Given the description of an element on the screen output the (x, y) to click on. 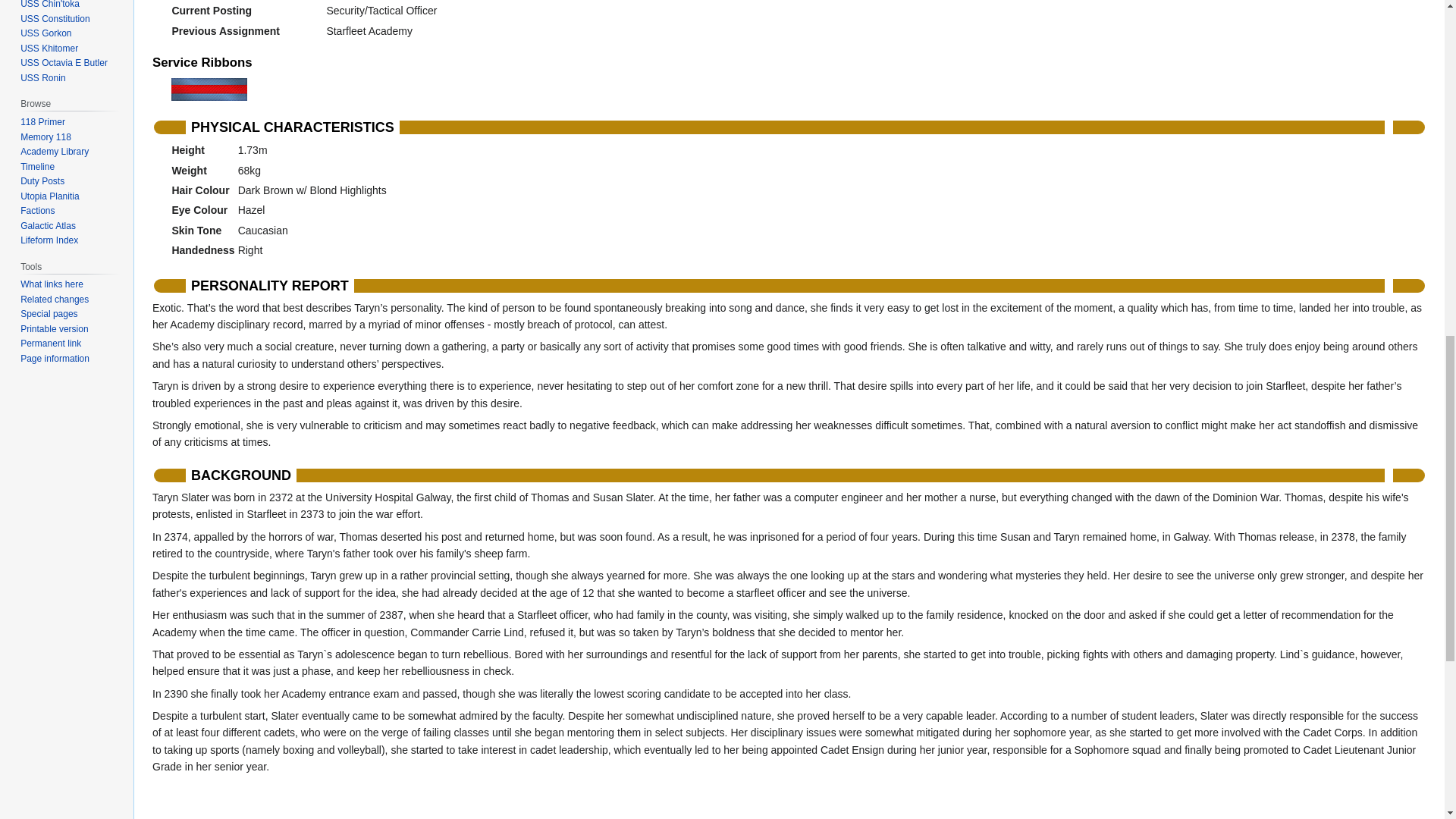
Starfleet Academy Graduate Ribbon (209, 88)
